Given the description of an element on the screen output the (x, y) to click on. 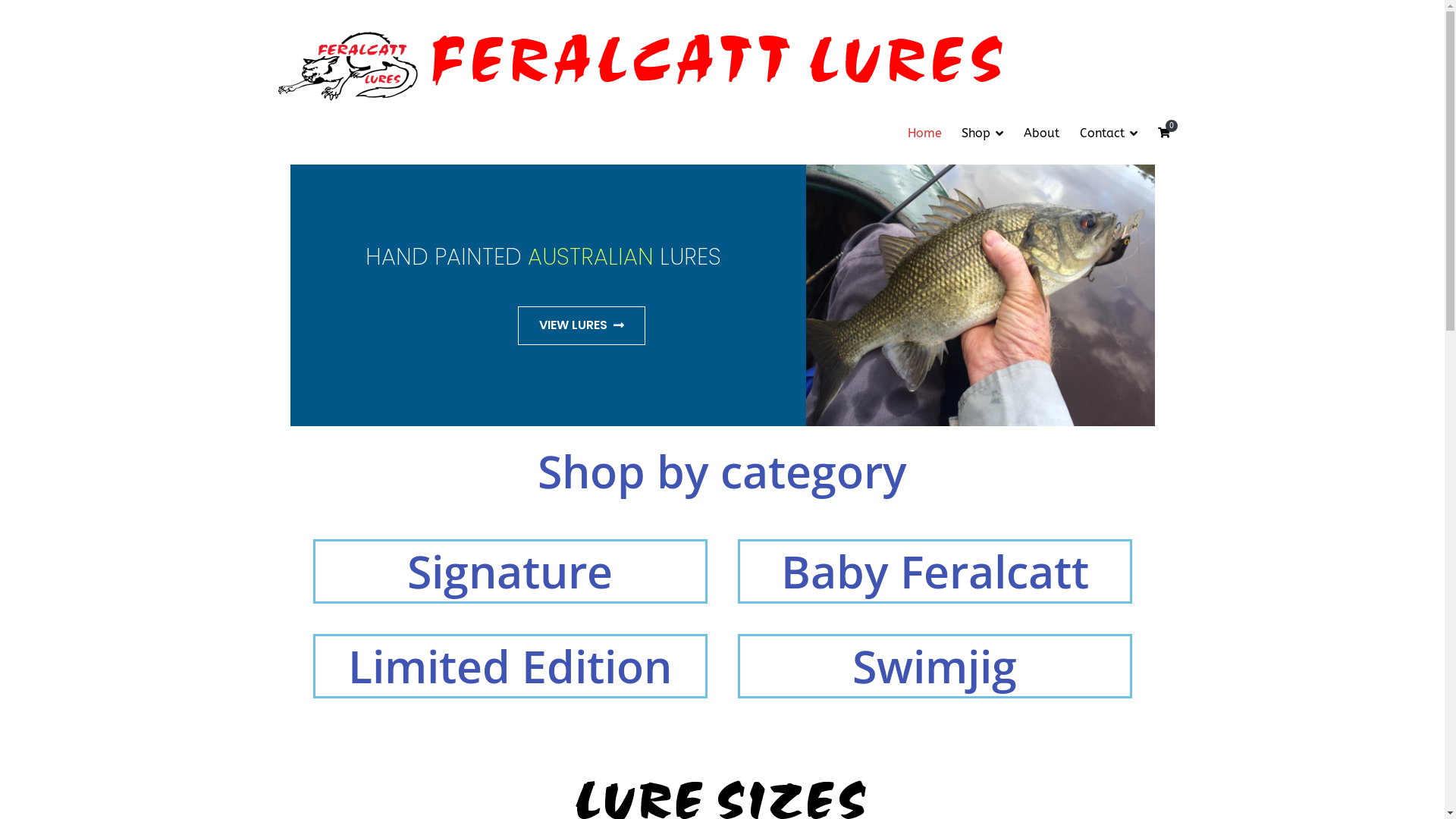
Limited Edition Element type: text (509, 665)
Baby Feralcatt Element type: text (934, 570)
Shop Element type: text (982, 133)
Feralcatt Lures Element type: text (1088, 71)
Home Element type: text (924, 133)
0 Element type: text (1163, 133)
About Element type: text (1041, 133)
Swimjig Element type: text (934, 665)
Signature Element type: text (509, 570)
VIEW LURES Element type: text (581, 325)
Contact Element type: text (1108, 133)
